Given the description of an element on the screen output the (x, y) to click on. 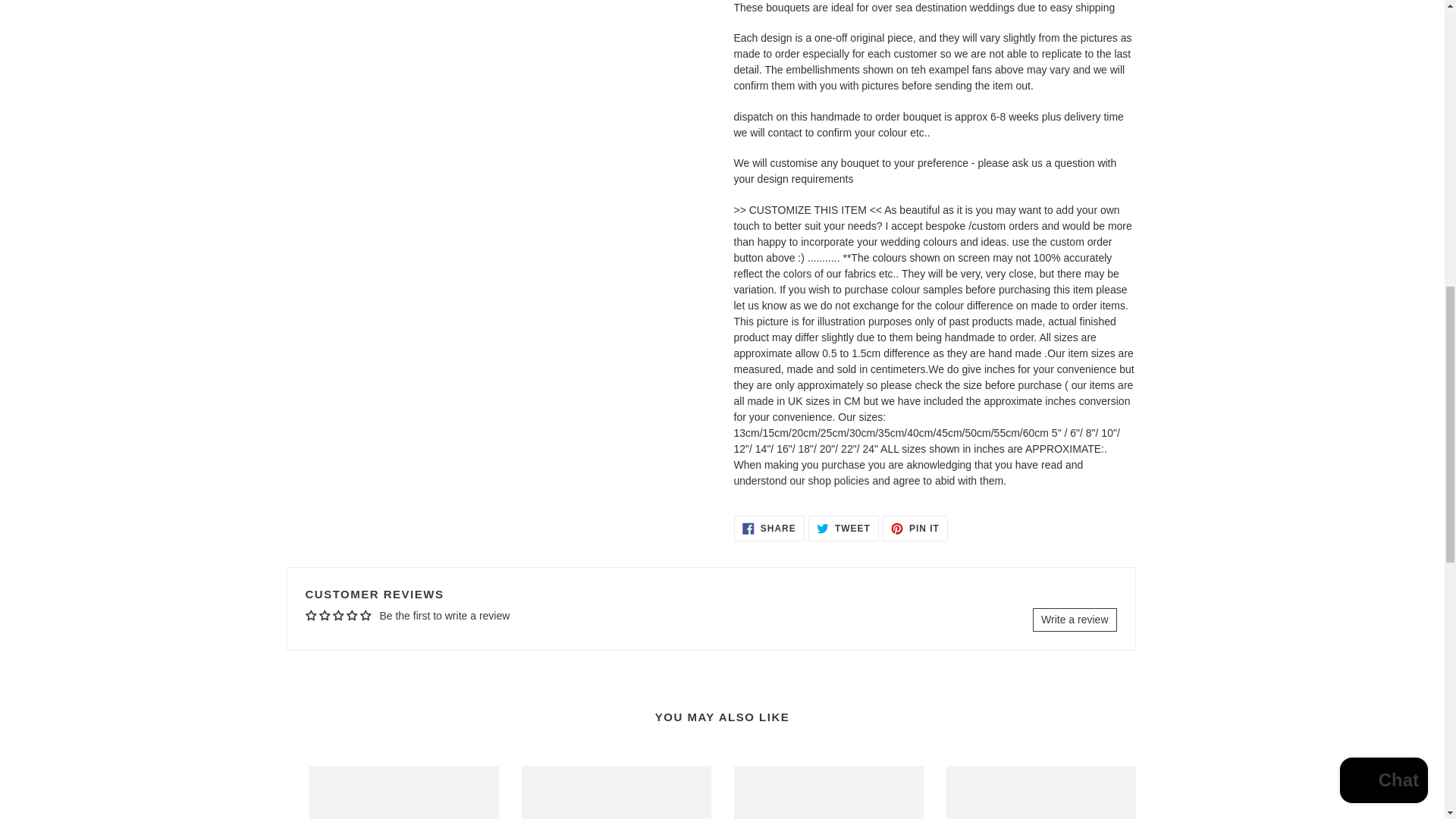
Privacy policy (341, 680)
SUBSCRIBE (872, 654)
Contact us (769, 506)
Search (333, 739)
Refund policy (325, 640)
About us (914, 506)
